Given the description of an element on the screen output the (x, y) to click on. 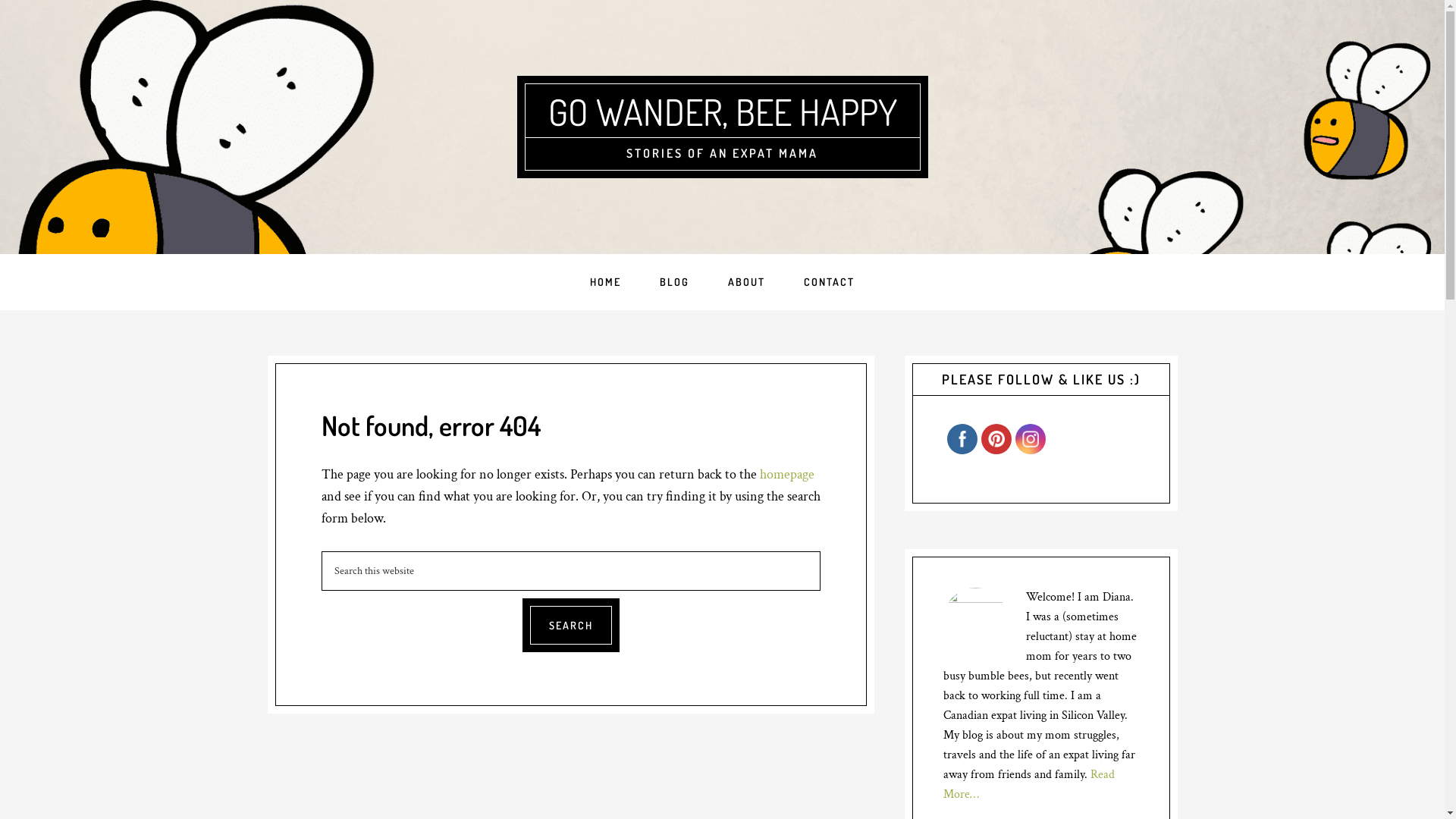
GO WANDER, BEE HAPPY Element type: text (721, 111)
Search Element type: text (570, 624)
CONTACT Element type: text (828, 282)
homepage Element type: text (786, 474)
ABOUT Element type: text (746, 282)
HOME Element type: text (605, 282)
BLOG Element type: text (674, 282)
